Given the description of an element on the screen output the (x, y) to click on. 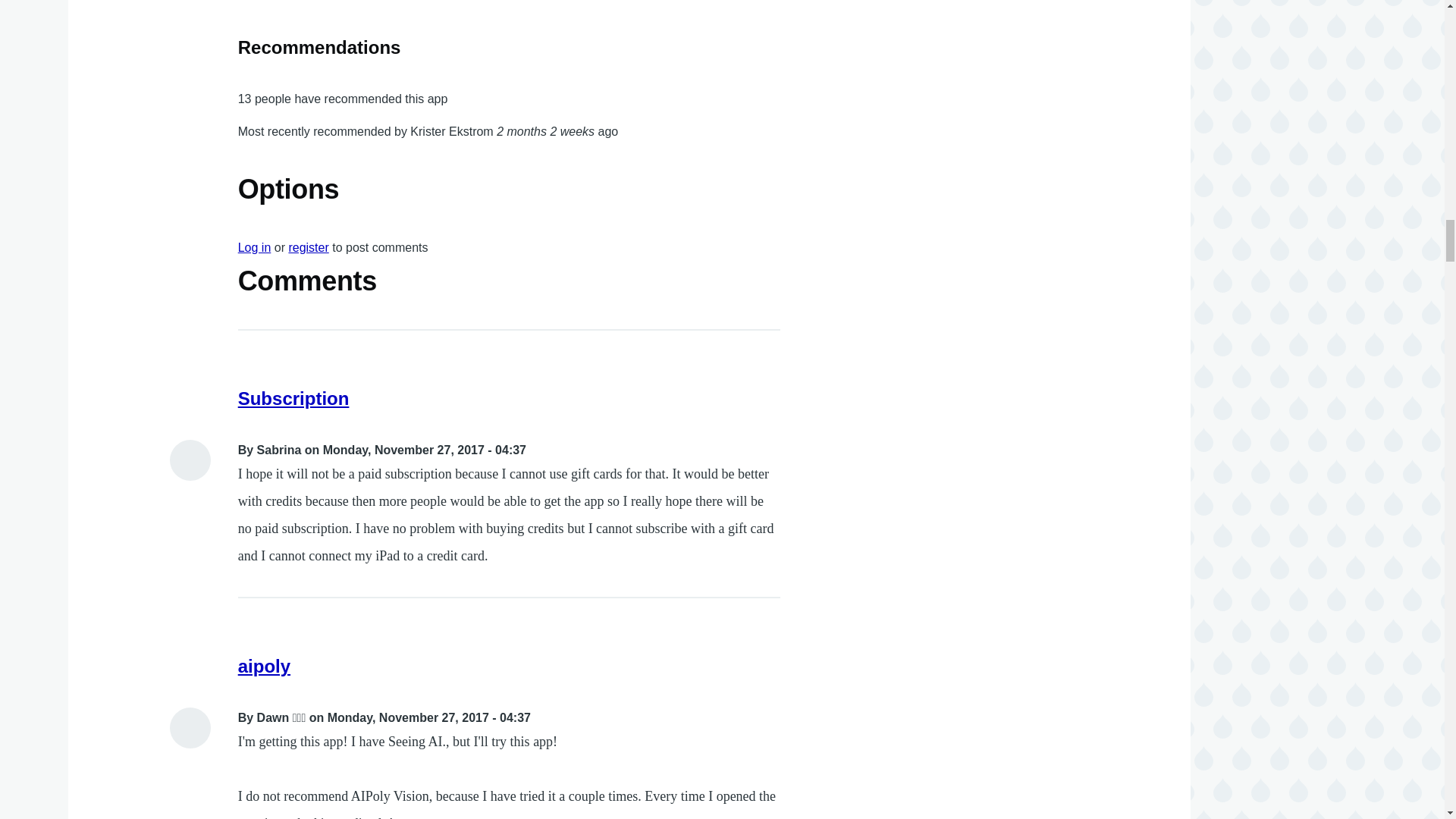
Subscription (293, 398)
Log in (254, 246)
aipoly (263, 666)
register (308, 246)
